Given the description of an element on the screen output the (x, y) to click on. 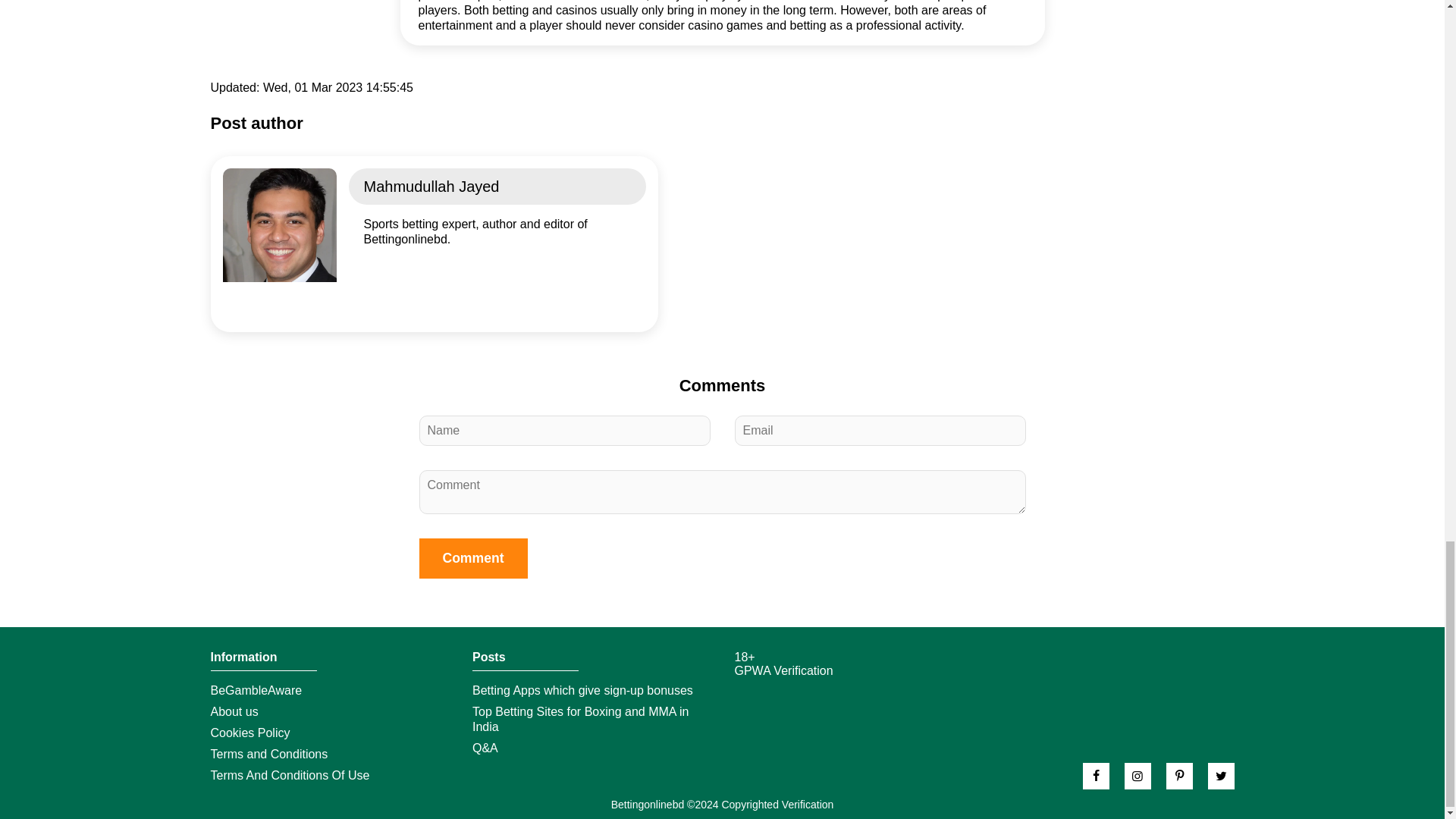
DMCA.com Protection Status (790, 697)
